Given the description of an element on the screen output the (x, y) to click on. 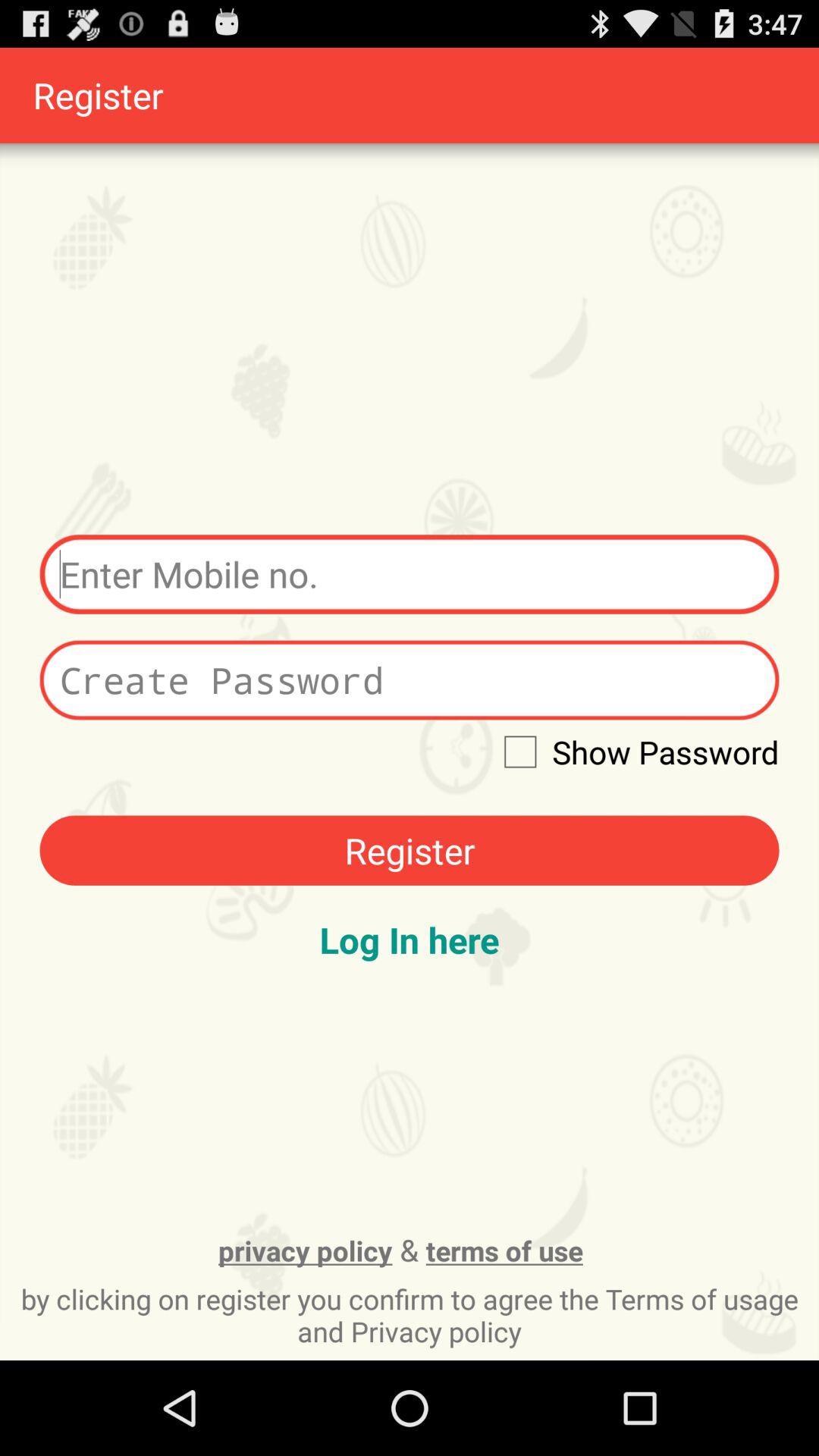
enter mobile number (409, 574)
